Given the description of an element on the screen output the (x, y) to click on. 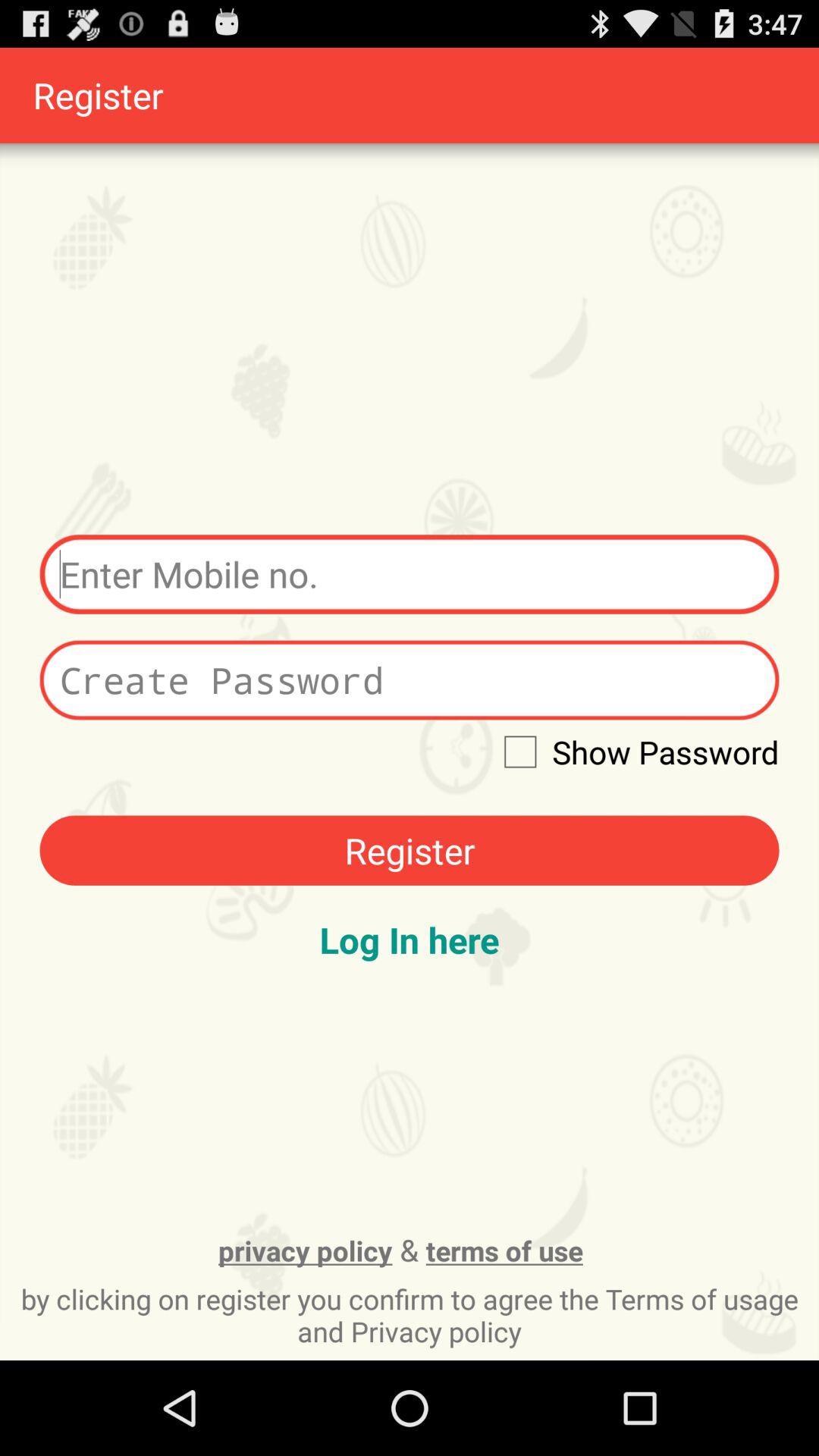
enter mobile number (409, 574)
